Given the description of an element on the screen output the (x, y) to click on. 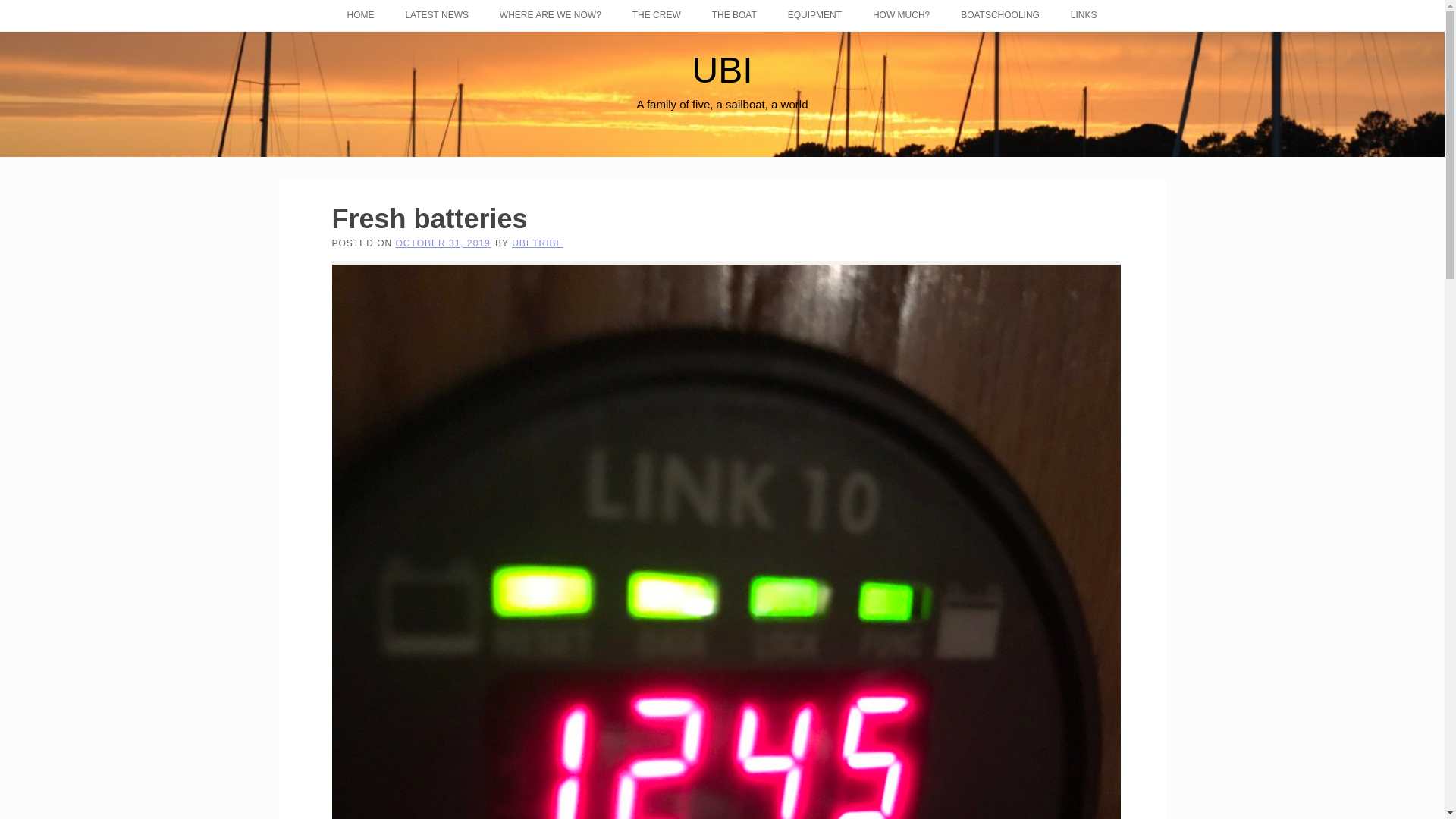
THE CREW (656, 15)
UBI (721, 69)
LATEST NEWS (436, 15)
LINKS (1083, 15)
EQUIPMENT (815, 15)
OCTOBER 31, 2019 (443, 243)
UBI TRIBE (537, 243)
THE BOAT (734, 15)
HOW MUCH? (901, 15)
HOME (360, 15)
